Given the description of an element on the screen output the (x, y) to click on. 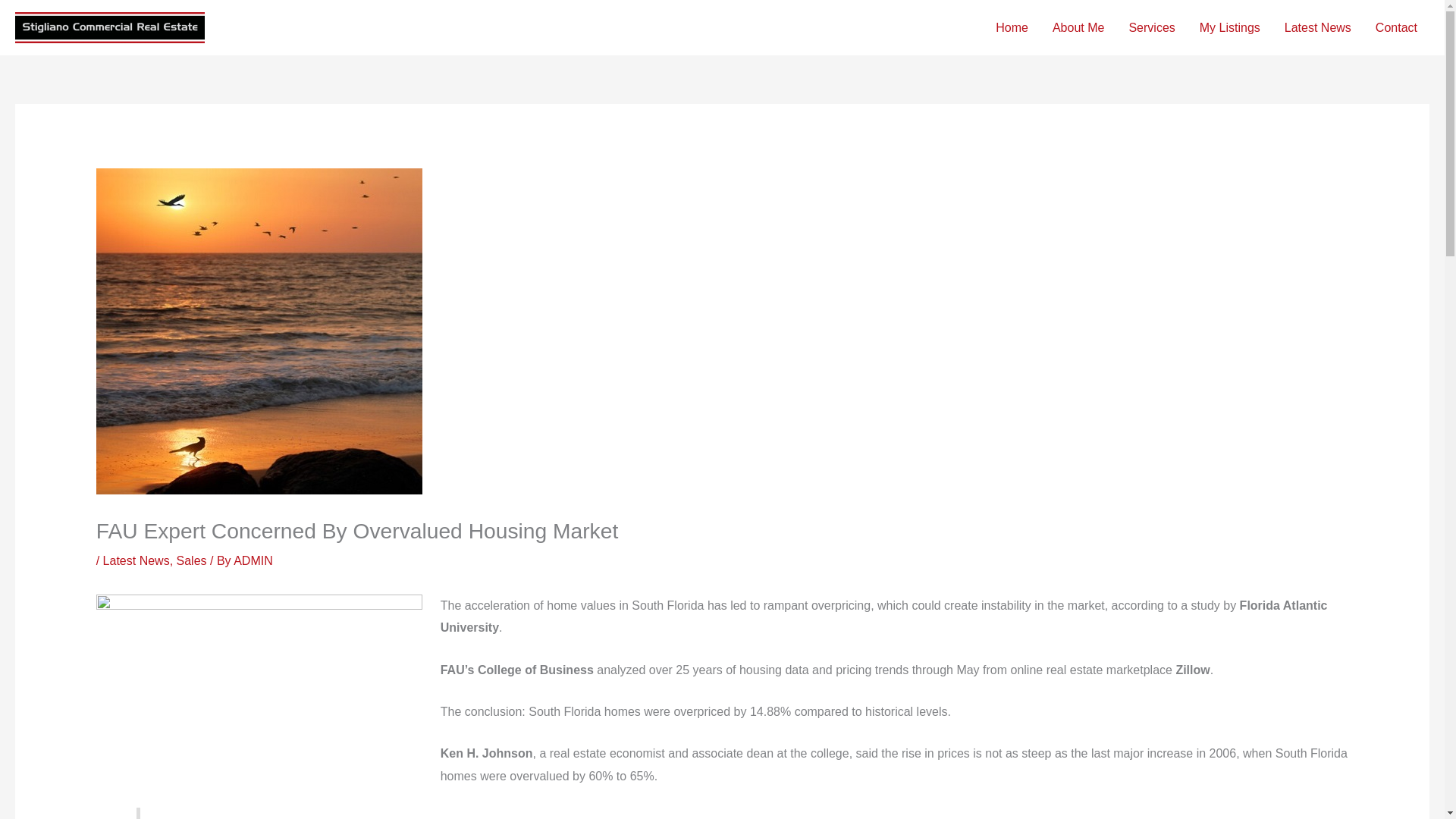
Latest News (136, 560)
Latest News (1317, 27)
View all posts by ADMIN (252, 560)
My Listings (1230, 27)
Contact (1395, 27)
Sales (191, 560)
Services (1151, 27)
Home (1012, 27)
About Me (1078, 27)
ADMIN (252, 560)
